Given the description of an element on the screen output the (x, y) to click on. 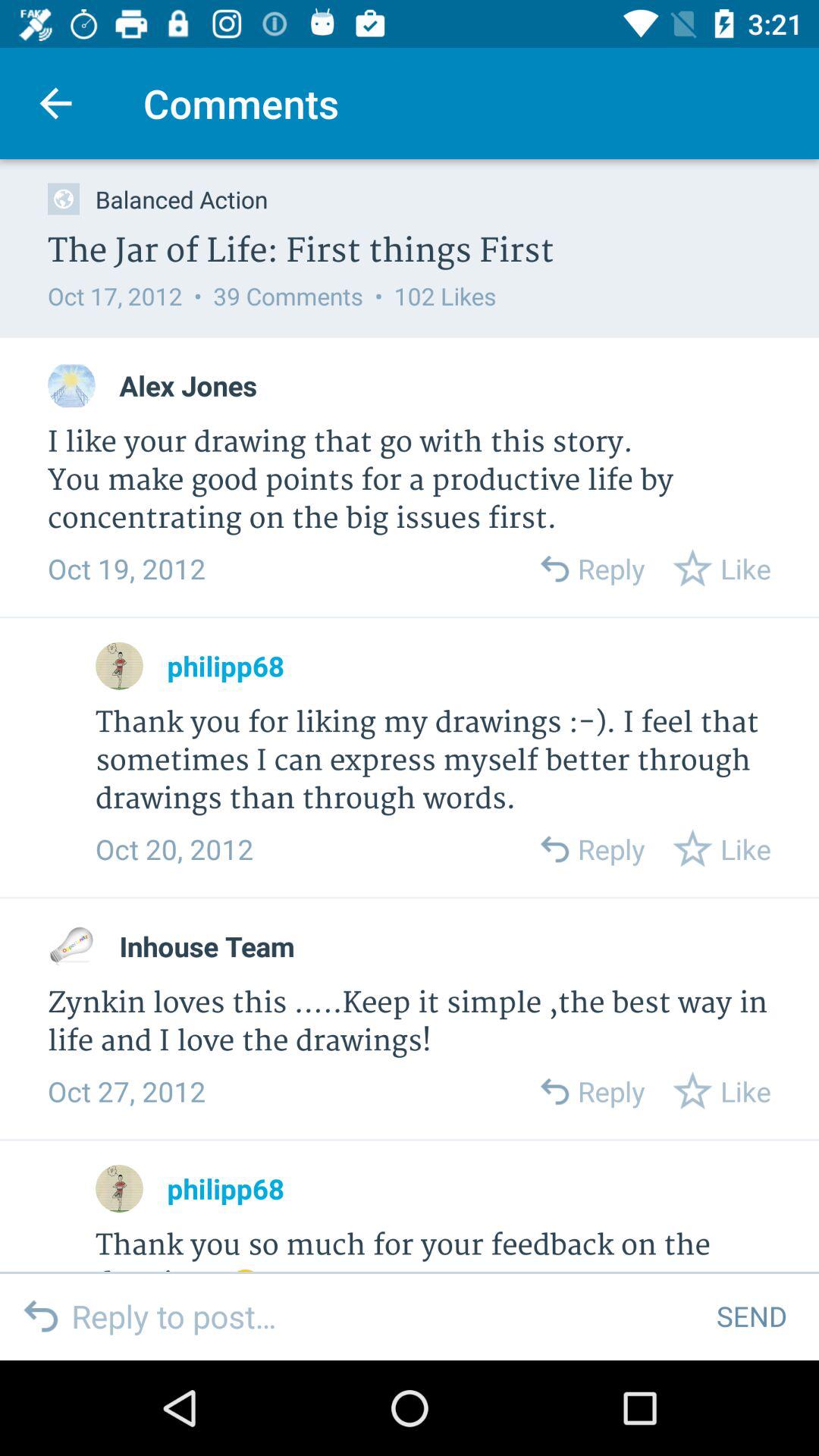
view avatar (71, 385)
